Given the description of an element on the screen output the (x, y) to click on. 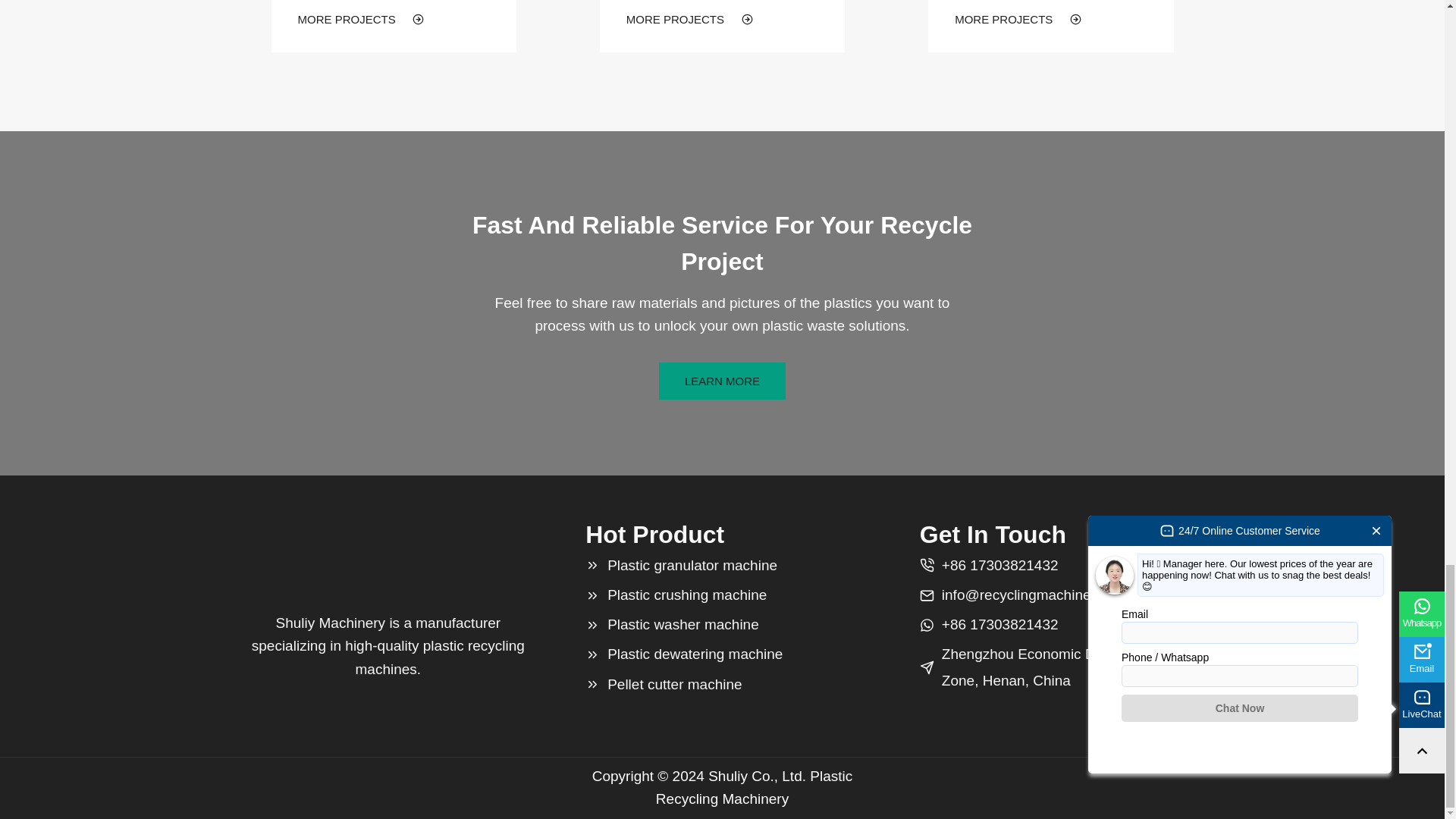
LEARN MORE (722, 380)
MORE PROJECTS (689, 19)
MORE PROJECTS (1018, 19)
MORE PROJECTS (360, 19)
